Given the description of an element on the screen output the (x, y) to click on. 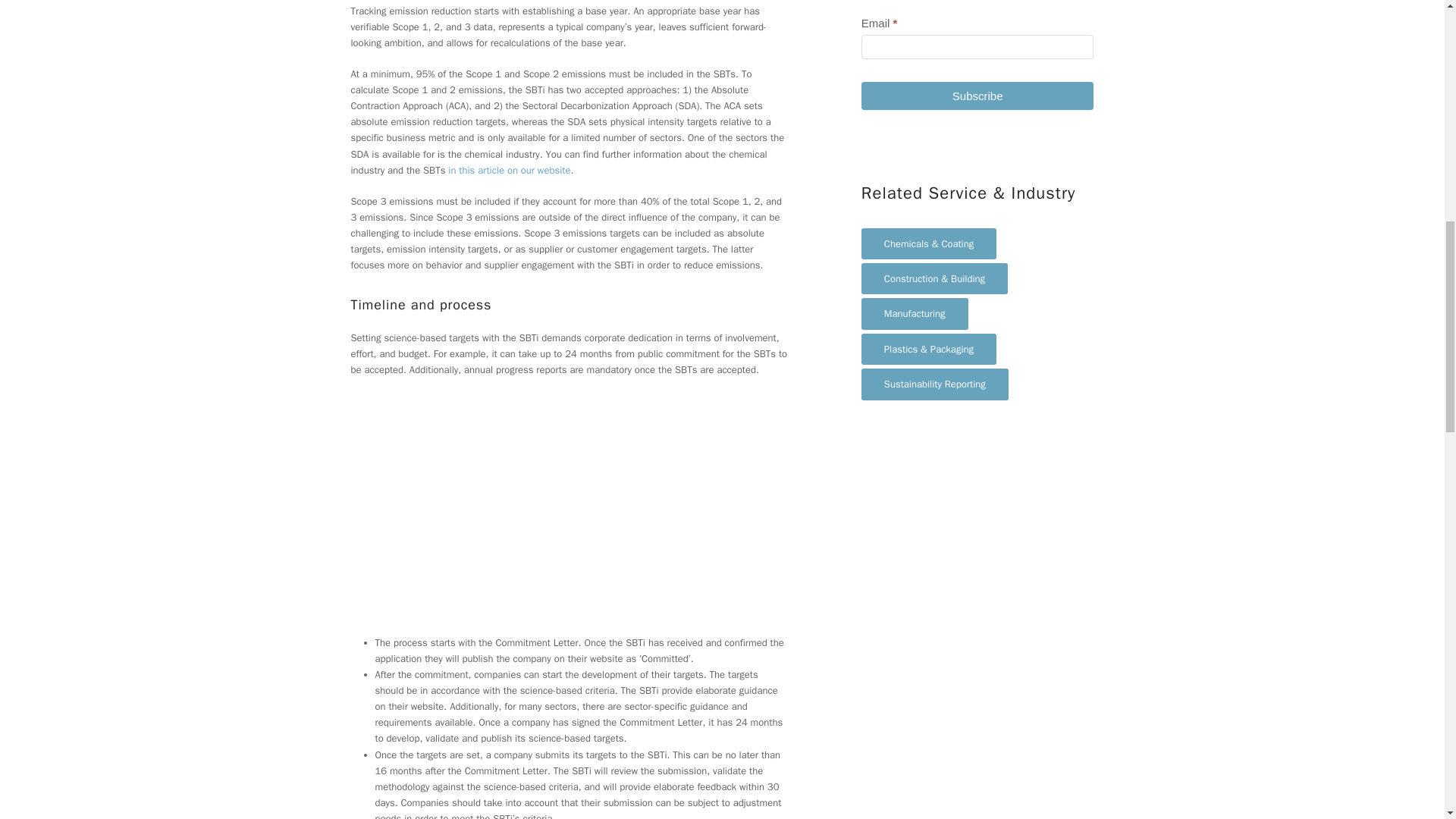
Sustainability Reporting (935, 383)
in this article on our website (509, 169)
Manufacturing (914, 313)
Subscribe (977, 95)
